Given the description of an element on the screen output the (x, y) to click on. 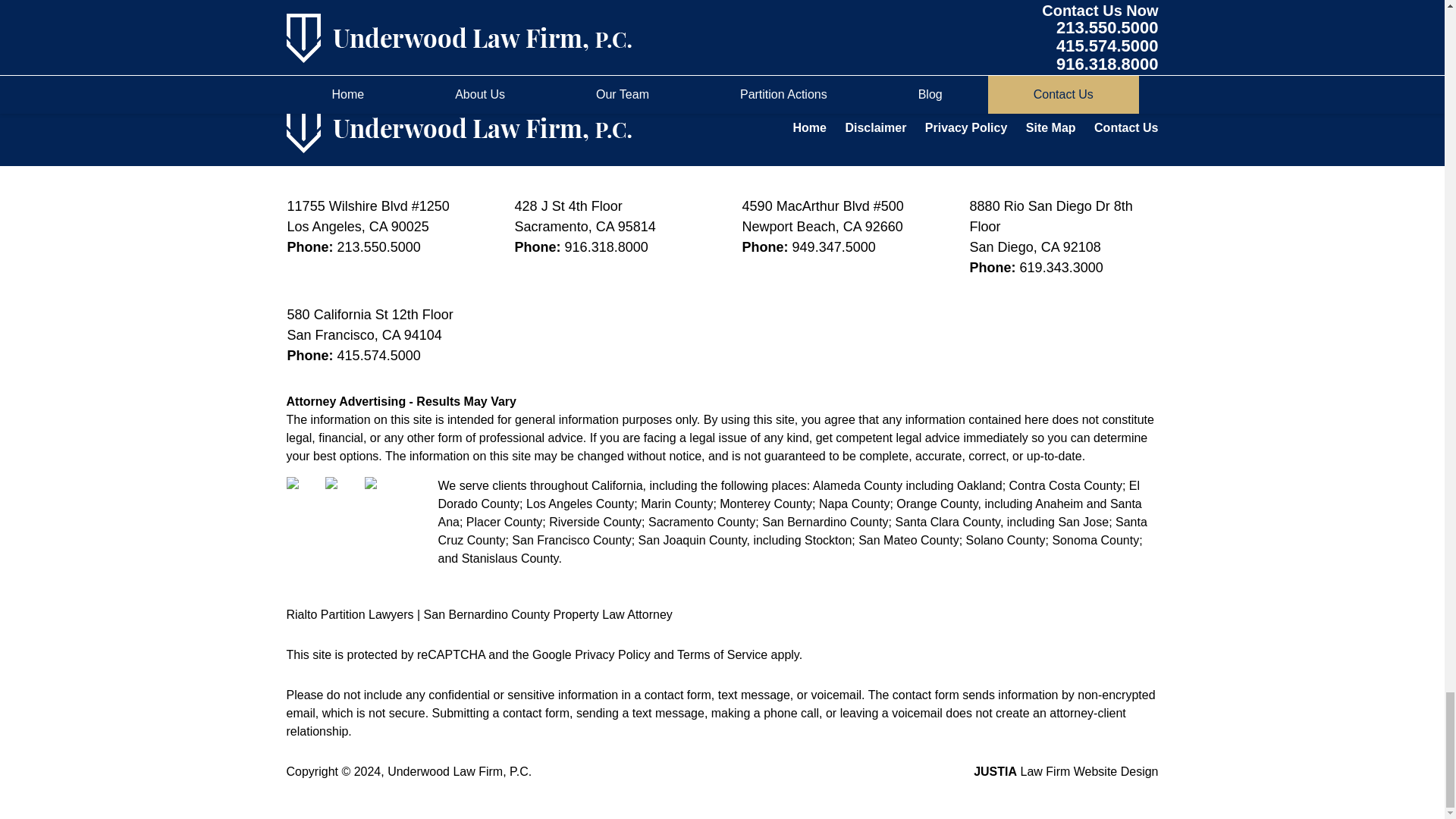
Facebook (303, 494)
Justia (382, 494)
LinkedIn (342, 494)
